Given the description of an element on the screen output the (x, y) to click on. 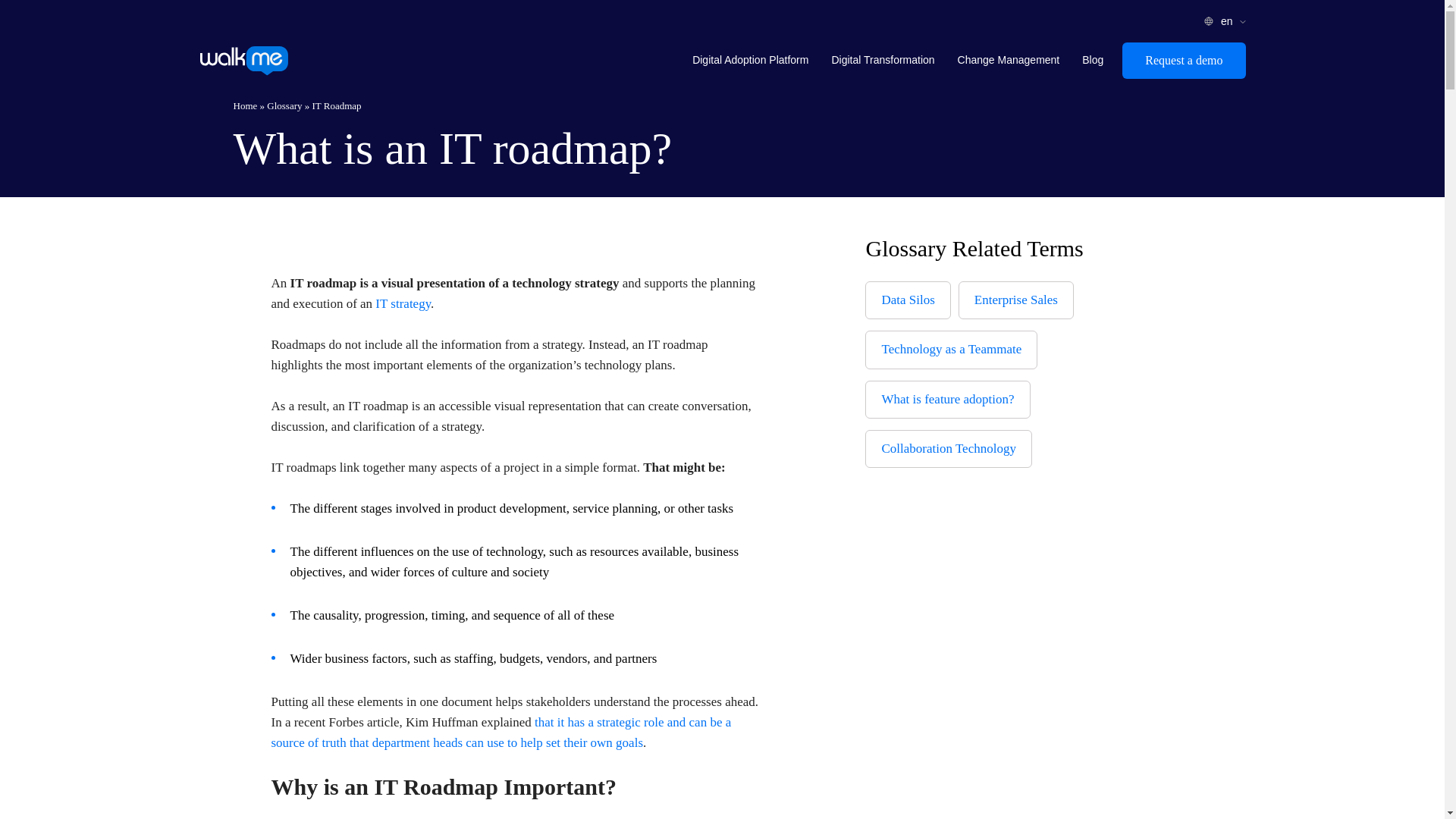
Digital Adoption Platform (750, 60)
Request a demo (1183, 60)
Collaboration Technology (948, 448)
IT strategy (402, 303)
Change Management (1008, 60)
Glossary (283, 105)
Technology as a Teammate (951, 349)
Home (244, 105)
Enterprise Sales (1016, 299)
What is feature adoption? (947, 398)
Digital Transformation (881, 60)
en (1228, 20)
Blog (1092, 60)
Data Silos (907, 299)
